Given the description of an element on the screen output the (x, y) to click on. 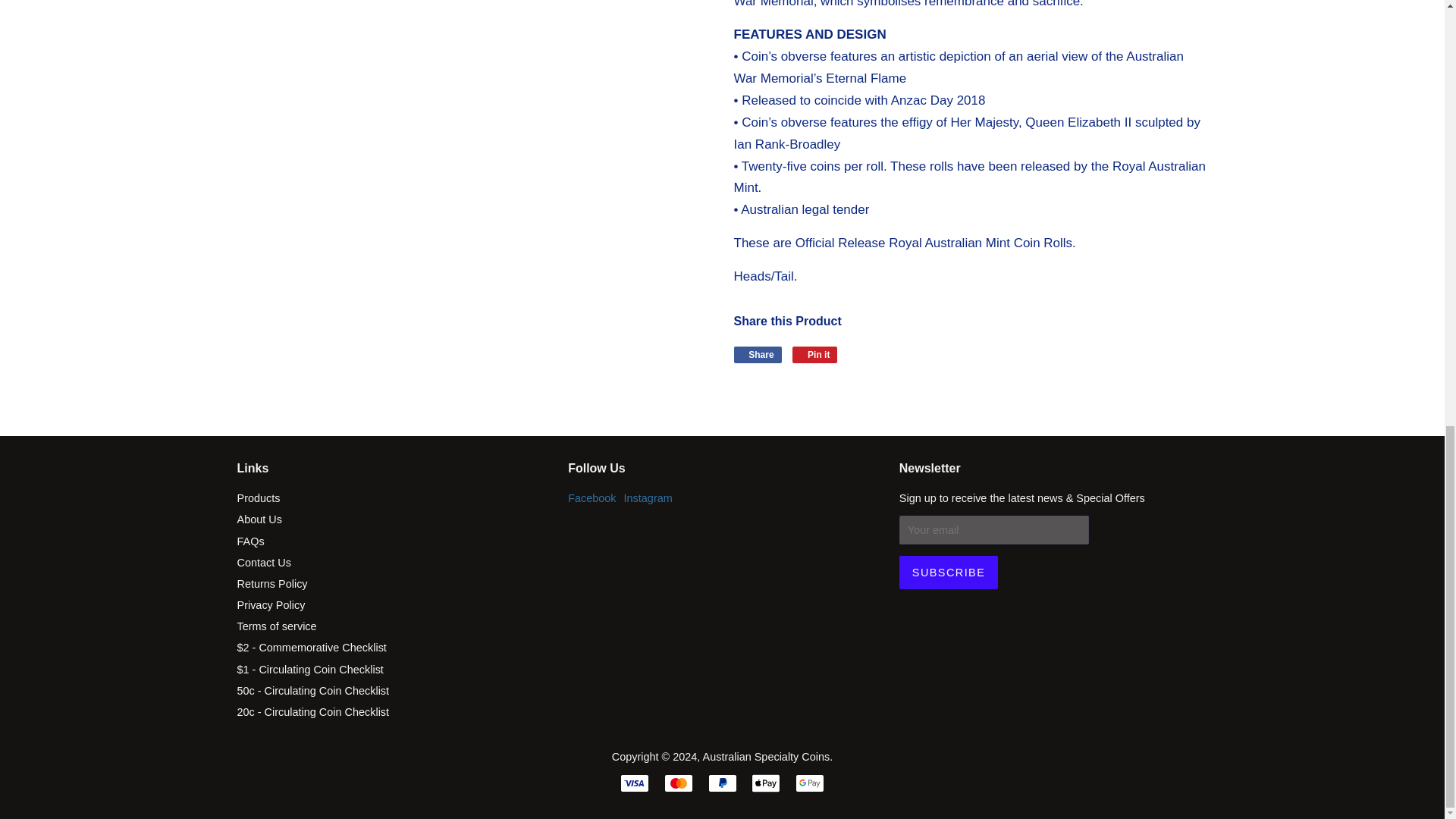
Subscribe (948, 572)
Visa (634, 782)
Australian Specialty Coins on Facebook (591, 498)
Pin on Pinterest (814, 354)
PayPal (721, 782)
Share on Facebook (757, 354)
Mastercard (678, 782)
Apple Pay (765, 782)
Australian Specialty Coins on Instagram (648, 498)
Google Pay (809, 782)
